Given the description of an element on the screen output the (x, y) to click on. 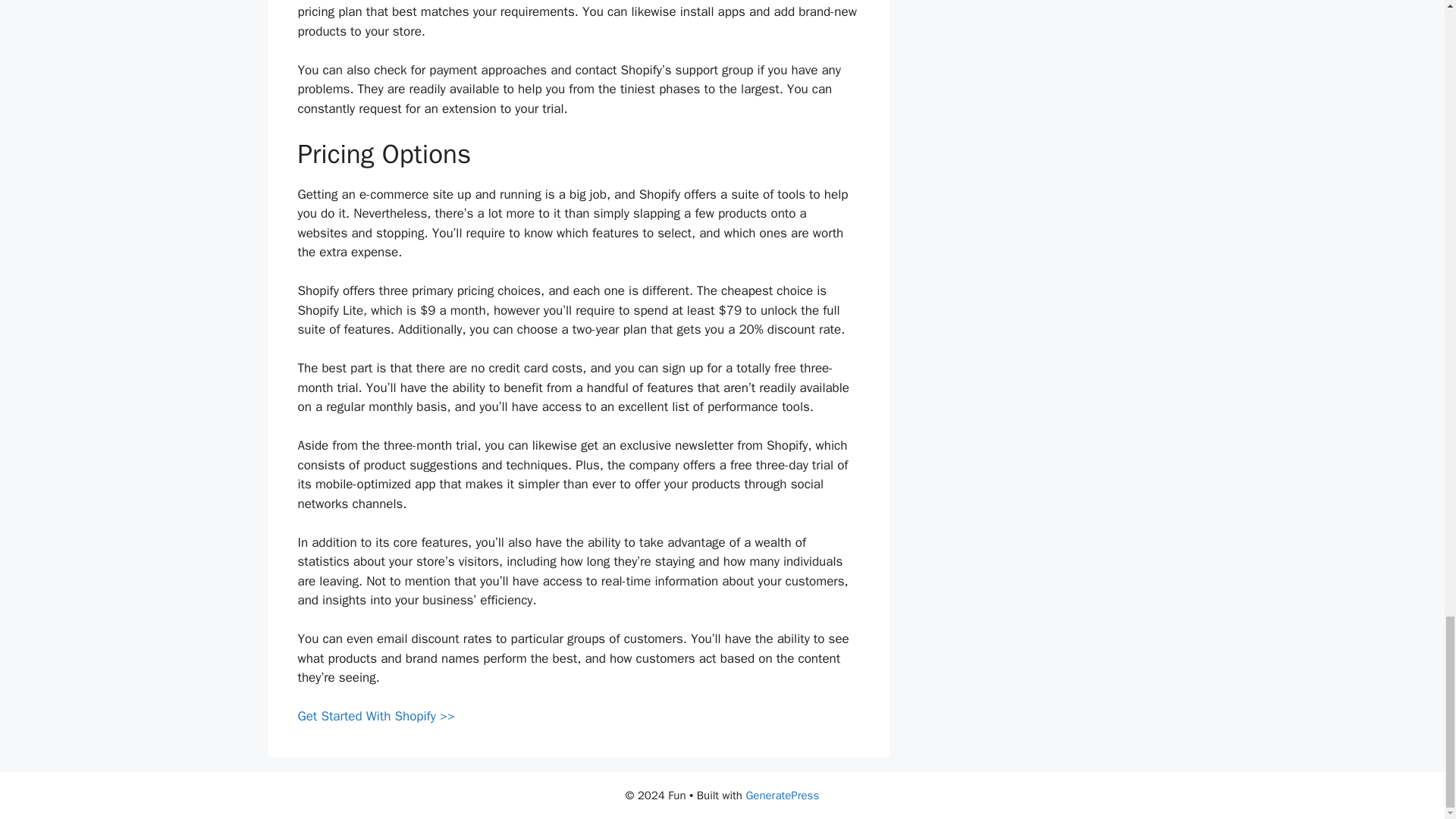
GeneratePress (781, 795)
